Given the description of an element on the screen output the (x, y) to click on. 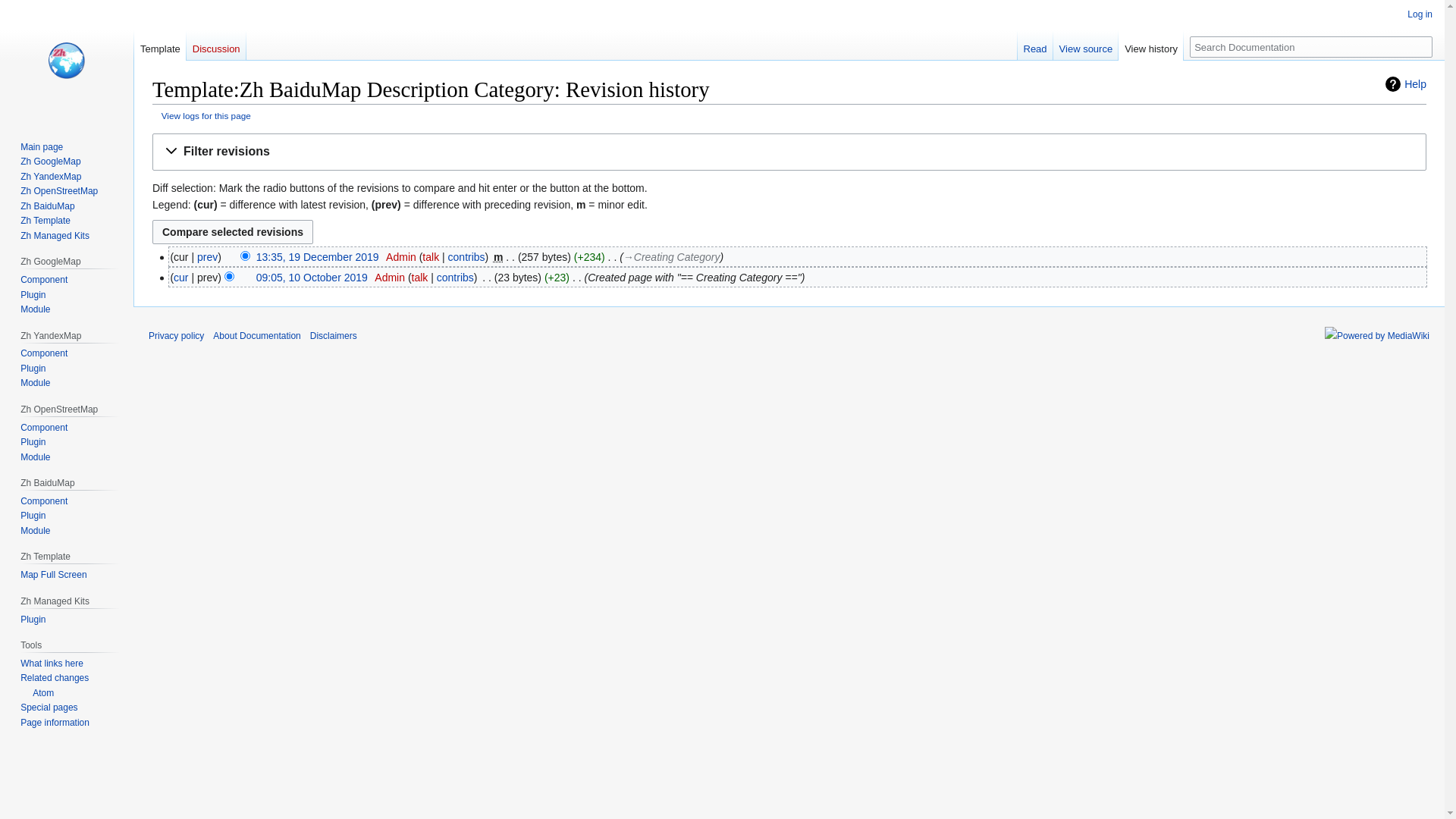
Read Element type: text (1035, 45)
Zh Managed Kits Element type: text (54, 235)
Disclaimers Element type: text (333, 335)
Plugin Element type: text (32, 515)
13:35, 19 December 2019 Element type: text (317, 257)
talk Element type: text (419, 277)
cur Element type: text (180, 277)
About Documentation Element type: text (256, 335)
Zh GoogleMap Element type: text (50, 161)
Module Element type: text (35, 382)
Plugin Element type: text (32, 368)
Zh OpenStreetMap Element type: text (58, 190)
Search the pages for this text Element type: hover (1420, 46)
Page information Element type: text (54, 722)
Map Full Screen Element type: text (53, 574)
Help Element type: text (1405, 83)
Admin Element type: text (400, 257)
Jump to navigation Element type: text (151, 132)
View history Element type: text (1150, 45)
Zh BaiduMap Element type: text (47, 205)
Related changes Element type: text (54, 677)
Plugin Element type: text (32, 294)
Module Element type: text (35, 530)
Plugin Element type: text (32, 619)
Module Element type: text (35, 456)
Log in Element type: text (1419, 14)
contribs Element type: text (466, 257)
Discussion Element type: text (216, 45)
Component Element type: text (43, 279)
talk Element type: text (430, 257)
Template Element type: text (160, 45)
Component Element type: text (43, 500)
Special pages Element type: text (48, 707)
Privacy policy Element type: text (175, 335)
Search Documentation [alt-shift-f] Element type: hover (1310, 46)
Admin Element type: text (389, 277)
Plugin Element type: text (32, 441)
Search Element type: text (1420, 46)
Atom Element type: text (36, 692)
Module Element type: text (35, 309)
View source Element type: text (1086, 45)
Visit the main page Element type: hover (66, 60)
View logs for this page Element type: text (206, 115)
Zh Template Element type: text (45, 220)
09:05, 10 October 2019 Element type: text (311, 277)
Main page Element type: text (41, 146)
Compare selected revisions Element type: text (232, 231)
contribs Element type: text (454, 277)
Zh YandexMap Element type: text (50, 176)
What links here Element type: text (51, 663)
Component Element type: text (43, 353)
Component Element type: text (43, 427)
prev Element type: text (207, 257)
